Given the description of an element on the screen output the (x, y) to click on. 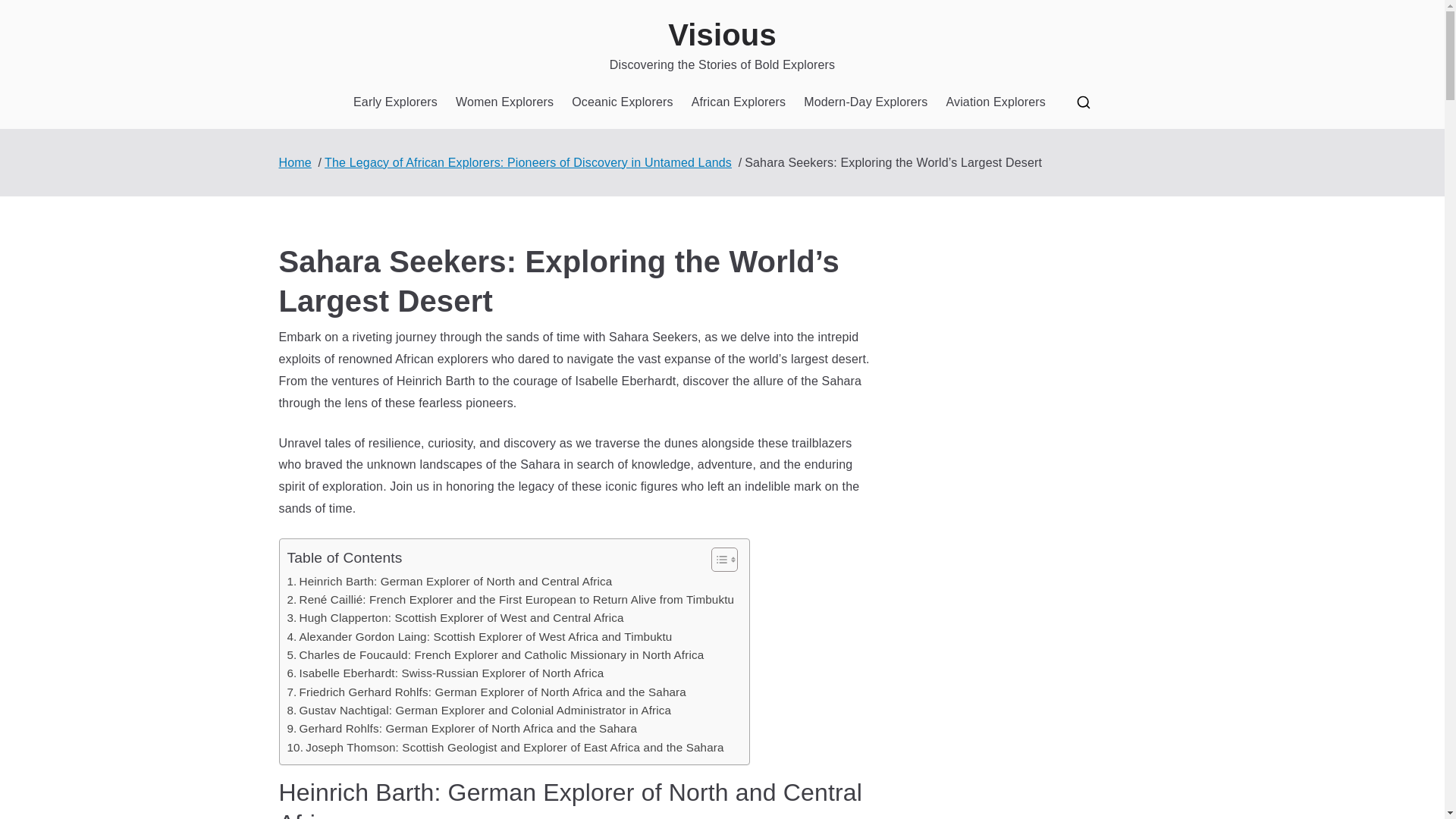
Aviation Explorers (994, 102)
Oceanic Explorers (622, 102)
African Explorers (738, 102)
Home (295, 162)
Isabelle Eberhardt: Swiss-Russian Explorer of North Africa (445, 673)
Heinrich Barth: German Explorer of North and Central Africa (448, 581)
